Given the description of an element on the screen output the (x, y) to click on. 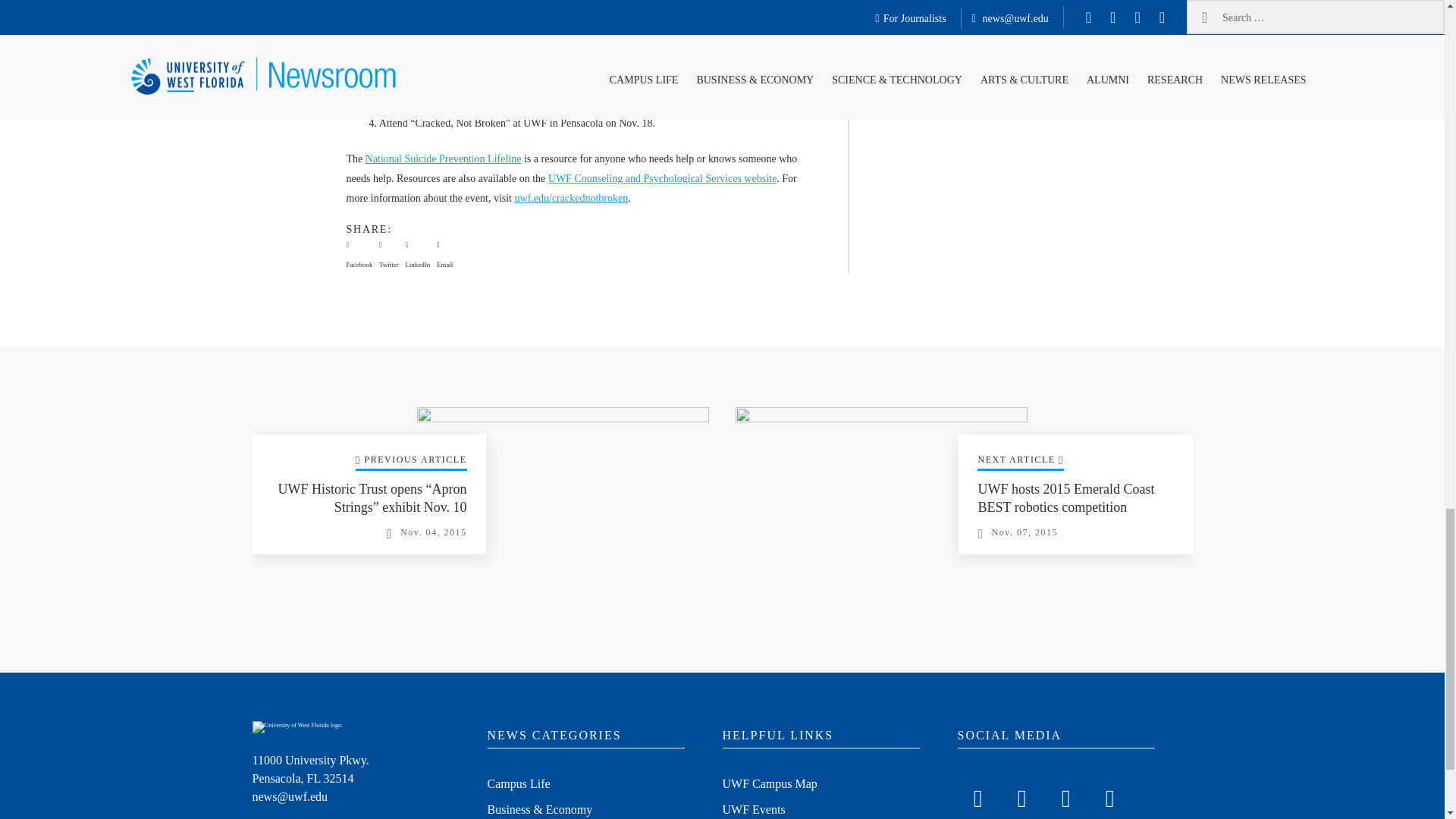
Campus Life (518, 785)
Follow us on Instagram (1065, 794)
UWF Counseling and Psychological Services website (662, 178)
Follow us on X (1021, 794)
Find us on Facebook (976, 794)
Biking for Byler fundraising website (517, 67)
National Suicide Prevention Lifeline (443, 158)
